Given the description of an element on the screen output the (x, y) to click on. 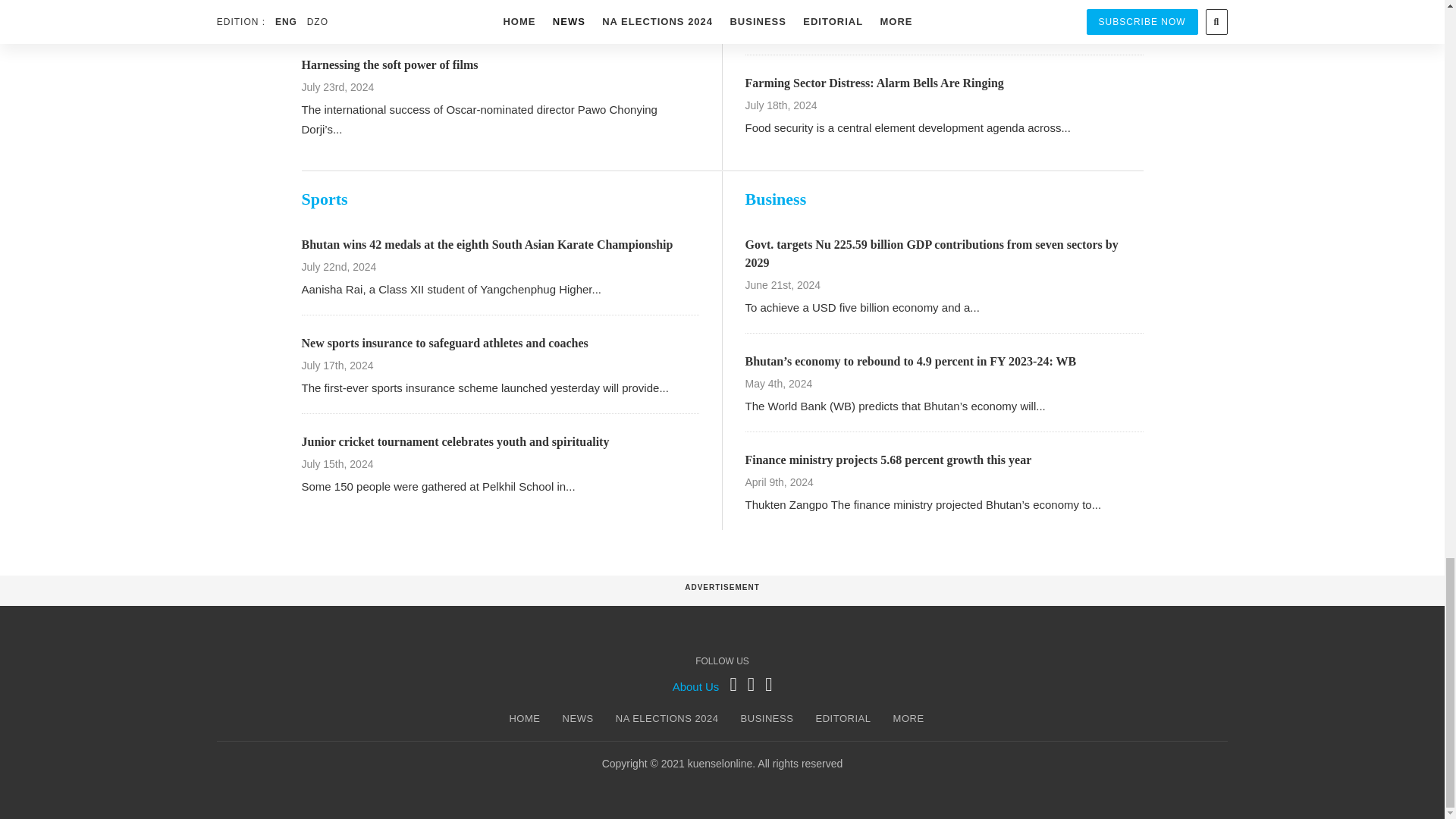
NEWS (577, 718)
Junior cricket tournament celebrates youth and spirituality (455, 440)
Farming Sector Distress: Alarm Bells Are Ringing (873, 82)
BUSINESS (766, 718)
MORE (908, 718)
About Us (695, 686)
NA ELECTIONS 2024 (666, 718)
Finance ministry projects 5.68 percent growth this year (887, 459)
EDITORIAL (843, 718)
New sports insurance to safeguard athletes and coaches (444, 342)
HOME (524, 718)
Harnessing the soft power of films (390, 64)
